Given the description of an element on the screen output the (x, y) to click on. 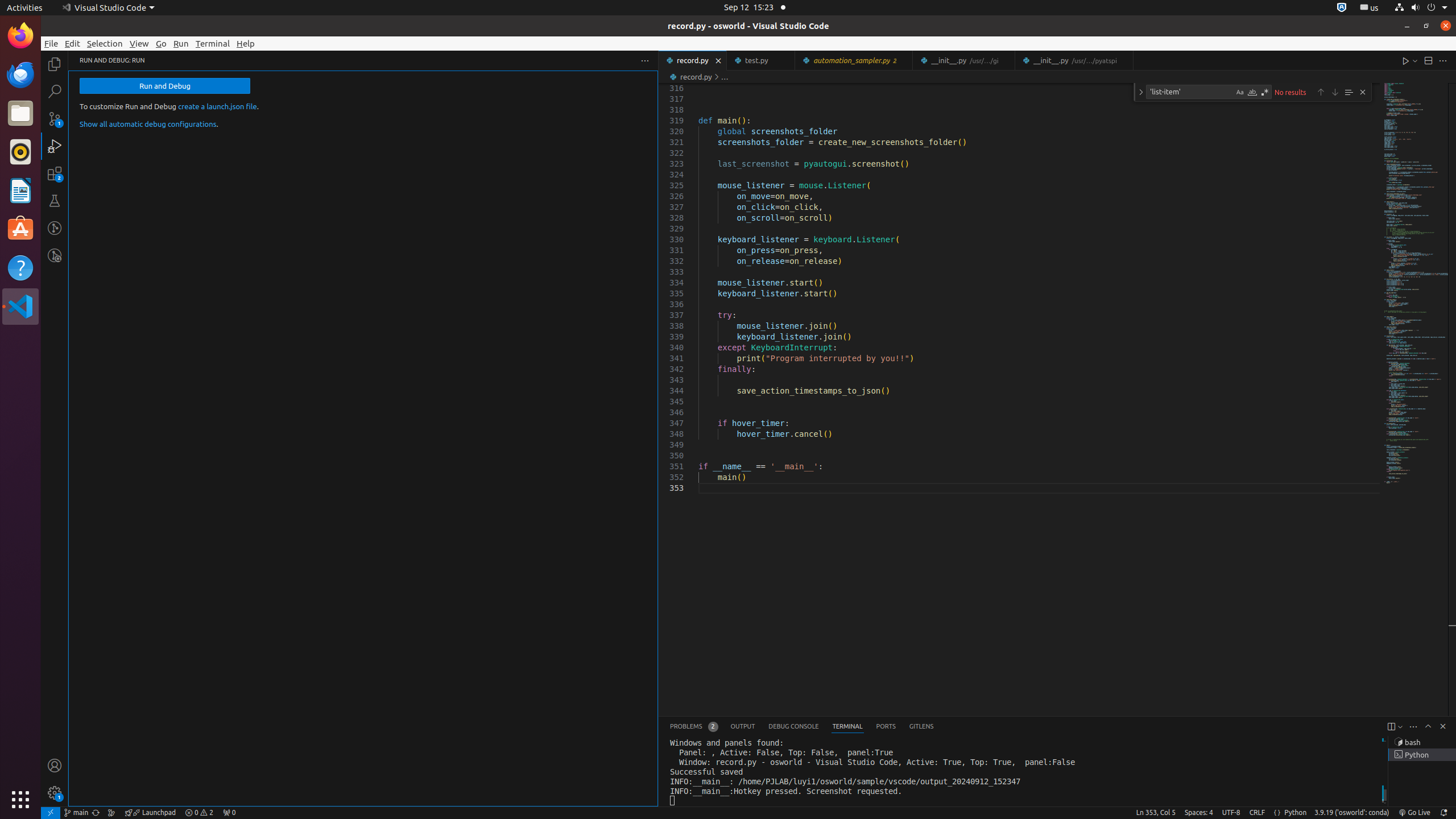
__init__.py Element type: page-tab (1073, 60)
Go Element type: push-button (161, 43)
Debug Console (Ctrl+Shift+Y) Element type: page-tab (793, 726)
